Given the description of an element on the screen output the (x, y) to click on. 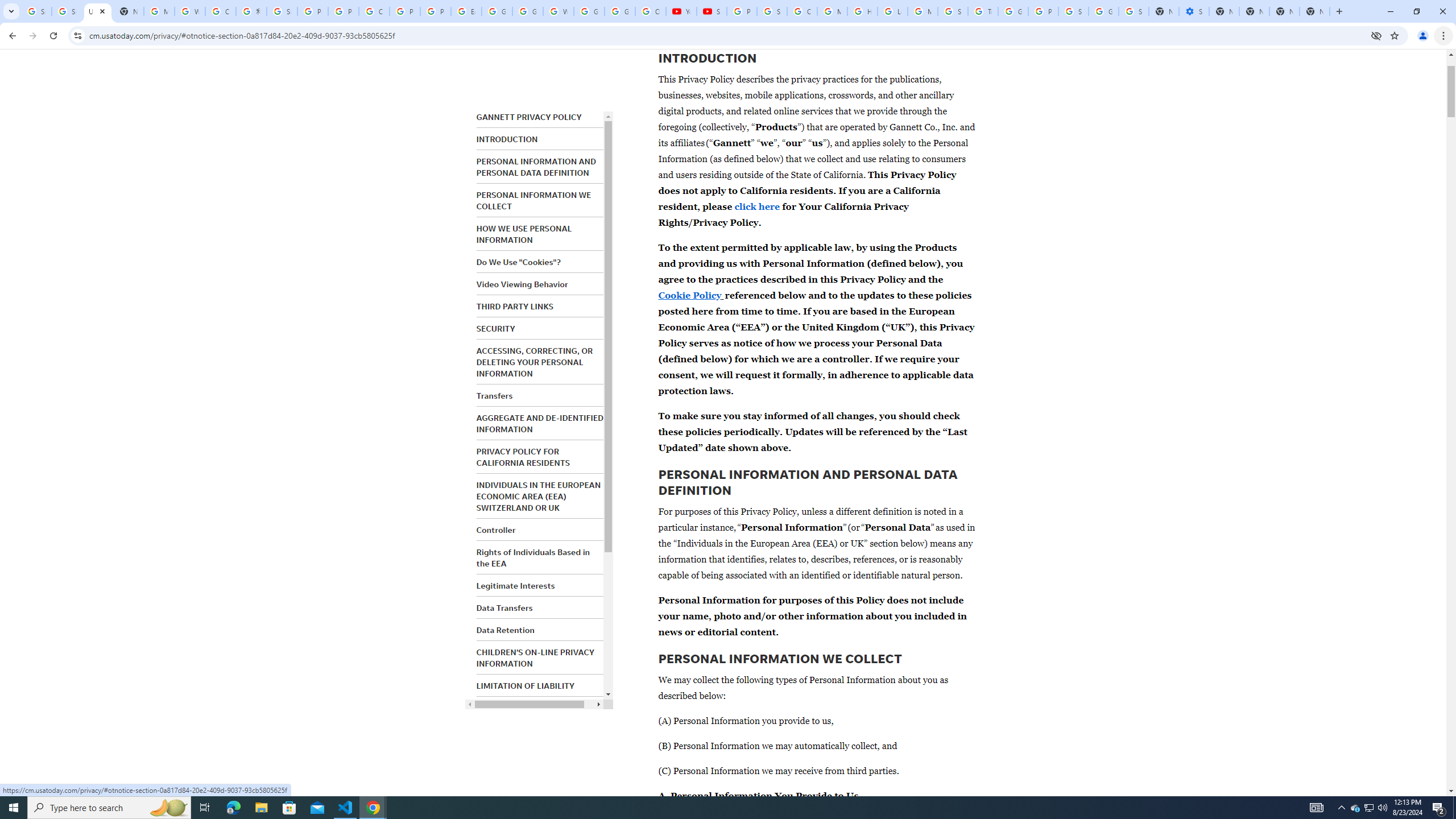
THIRD PARTY LINKS (514, 306)
YouTube (681, 11)
Restore (1416, 11)
Bookmark this tab (1393, 35)
Back (10, 35)
INTRODUCTION (507, 139)
Google Account (619, 11)
Subscriptions - YouTube (711, 11)
PERSONAL INFORMATION WE COLLECT (533, 200)
AGGREGATE AND DE-IDENTIFIED INFORMATION (540, 423)
Data Transfers (504, 607)
LIMITATION OF LIABILITY (525, 685)
